Given the description of an element on the screen output the (x, y) to click on. 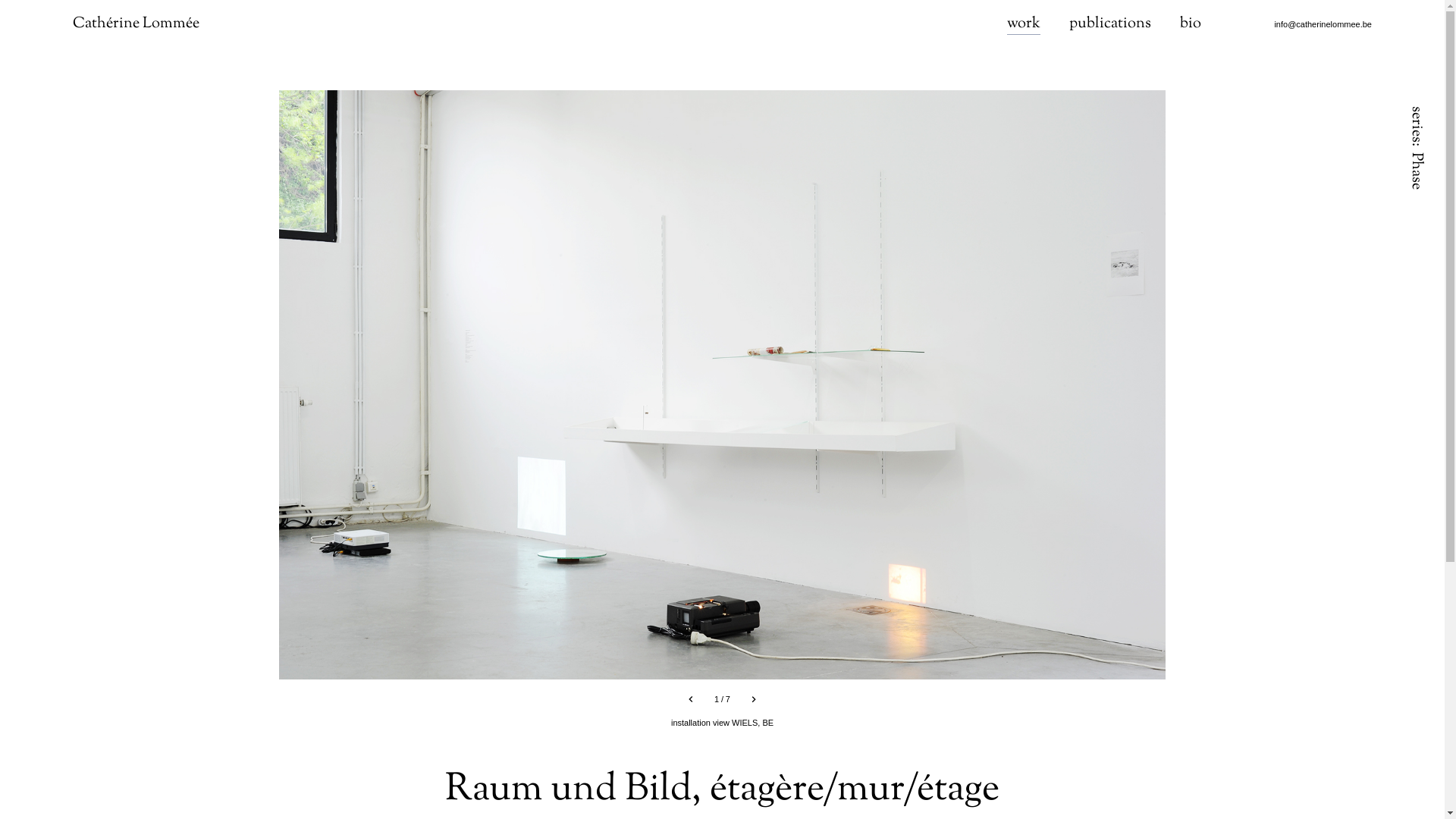
Phase Element type: text (1416, 172)
bio Element type: text (1190, 24)
publications Element type: text (1110, 24)
info@catherinelommee.be Element type: text (1322, 23)
work Element type: text (1023, 24)
